Given the description of an element on the screen output the (x, y) to click on. 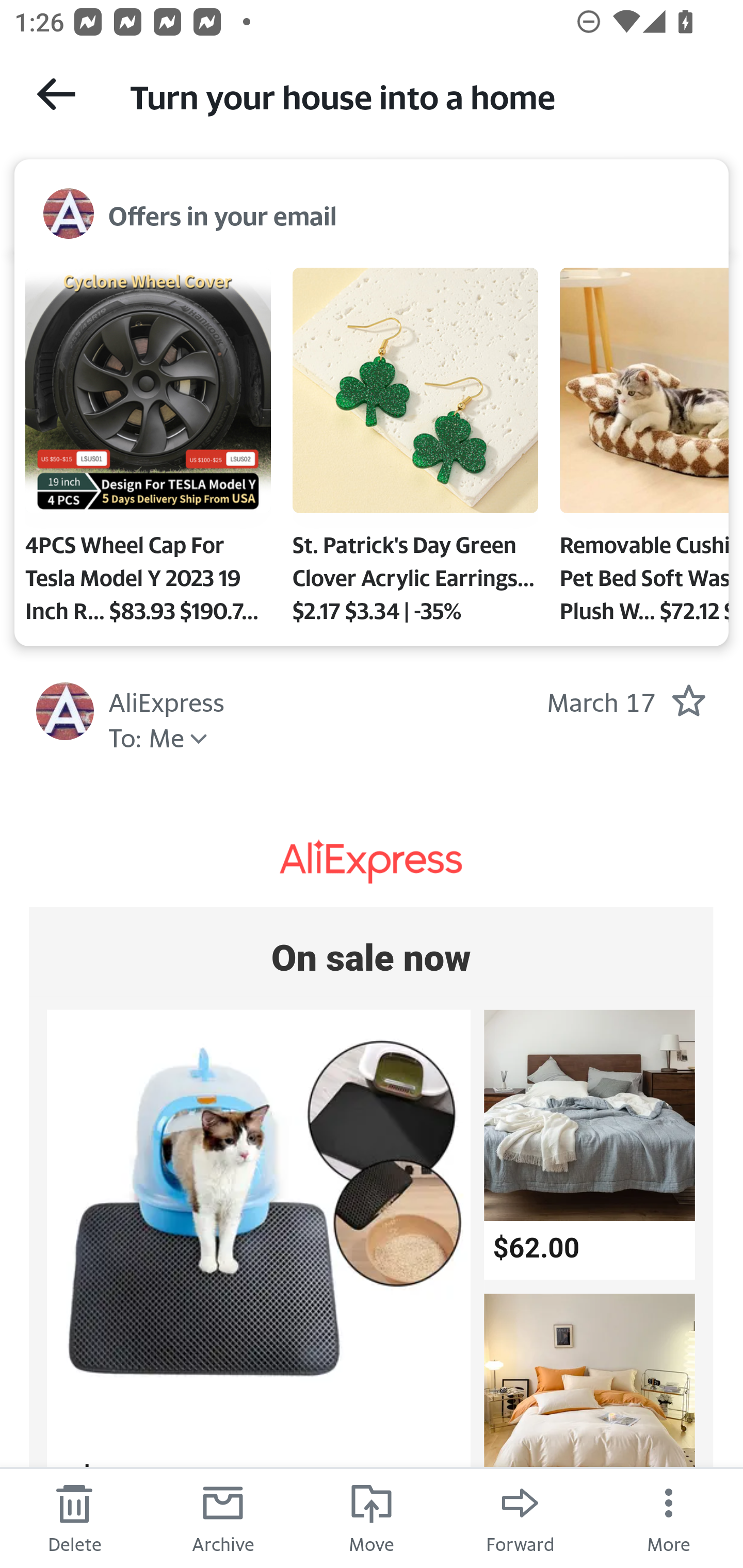
Back (55, 93)
Turn your house into a home (418, 94)
Profile (64, 711)
AliExpress Sender AliExpress (166, 700)
Mark as starred. (688, 700)
AliExpress (371, 861)
Delete (74, 1517)
Archive (222, 1517)
Move (371, 1517)
Forward (519, 1517)
More (668, 1517)
